Given the description of an element on the screen output the (x, y) to click on. 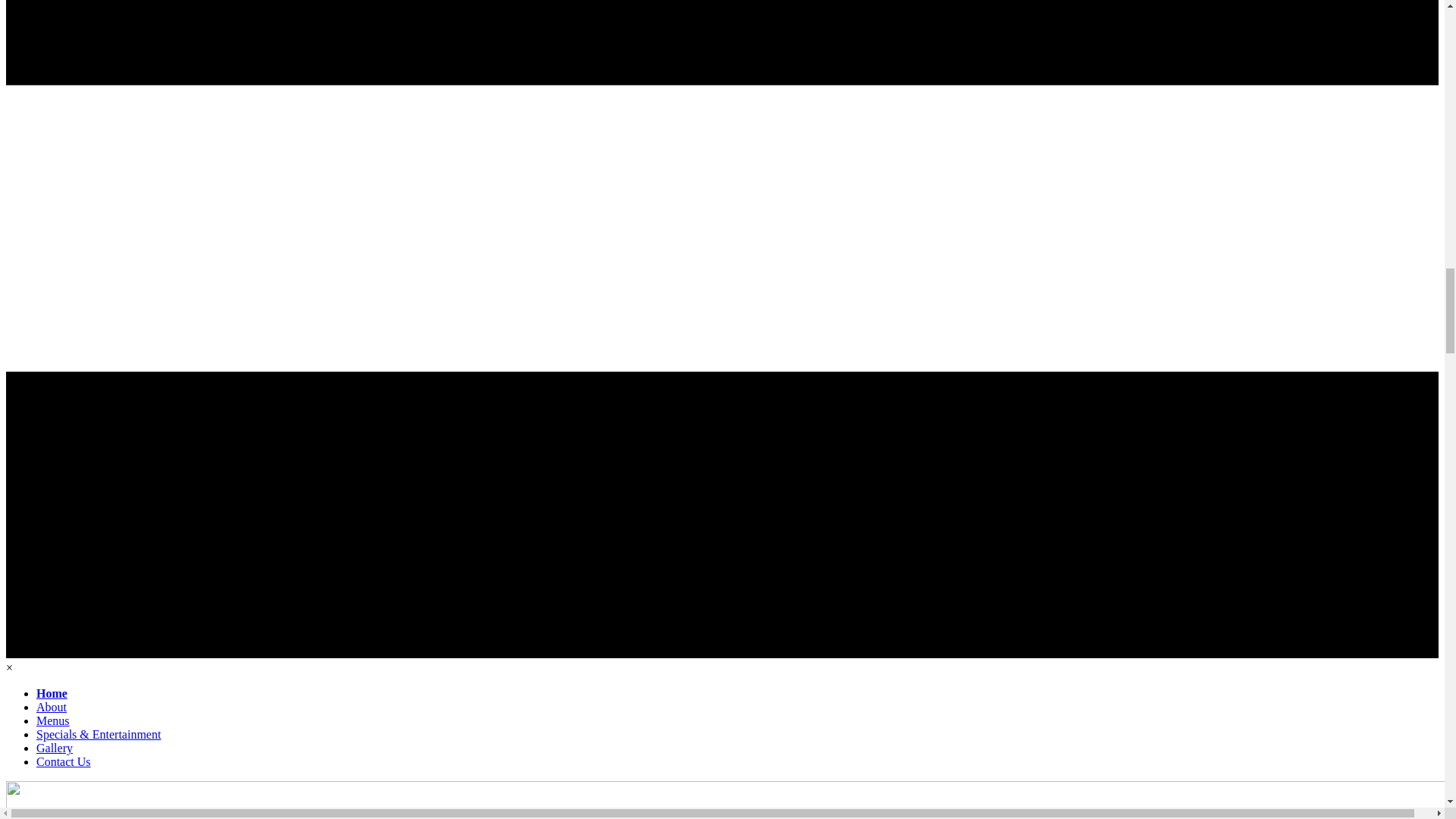
Home (51, 693)
About (51, 707)
Contact Us (63, 761)
Gallery (54, 748)
Menus (52, 720)
